Given the description of an element on the screen output the (x, y) to click on. 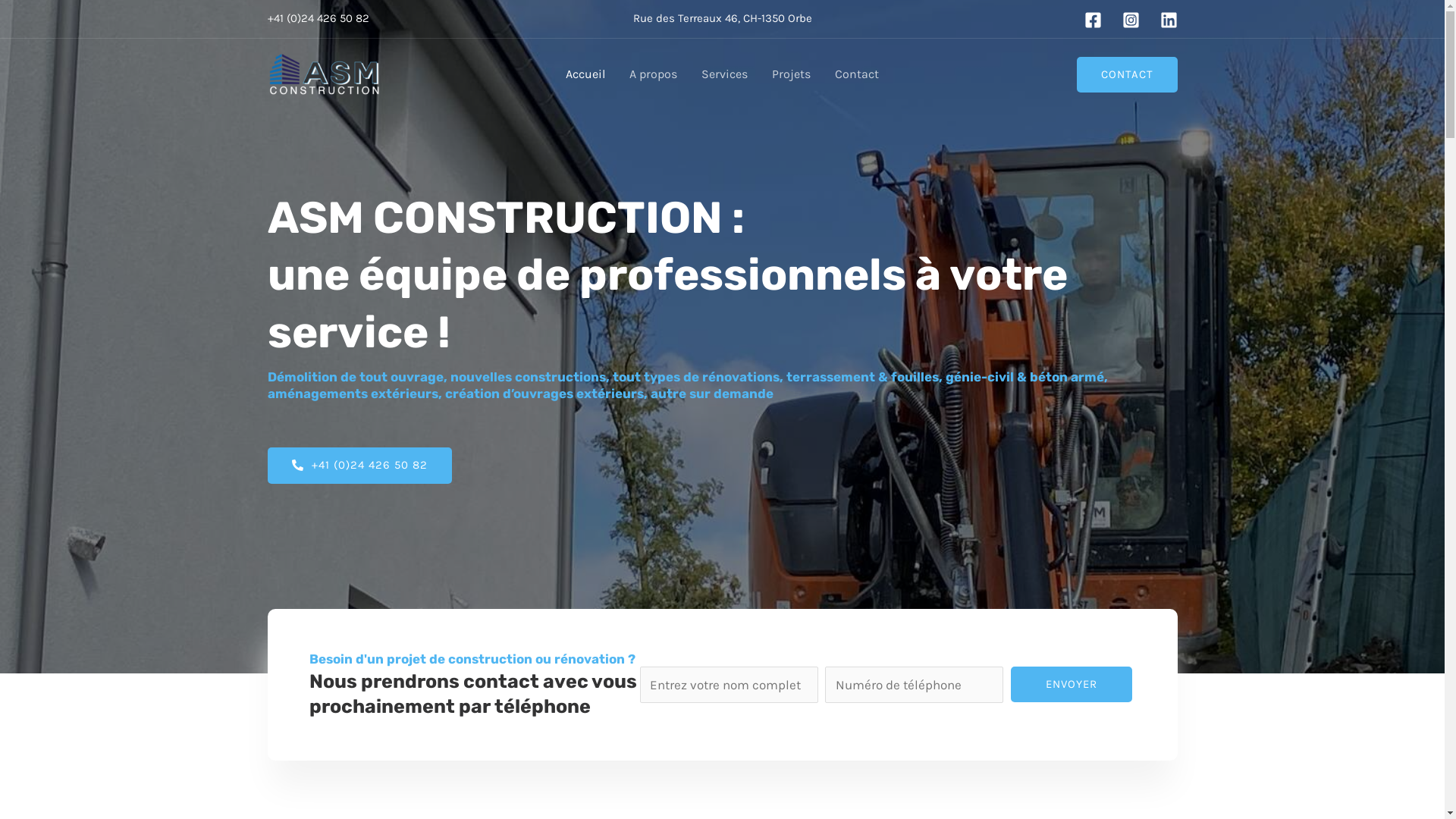
A propos Element type: text (653, 73)
Services Element type: text (724, 73)
ENVOYER Element type: text (1071, 684)
CONTACT Element type: text (1126, 73)
Projets Element type: text (790, 73)
Accueil Element type: text (585, 73)
+41 (0)24 426 50 82 Element type: text (358, 465)
Contact Element type: text (856, 73)
